Given the description of an element on the screen output the (x, y) to click on. 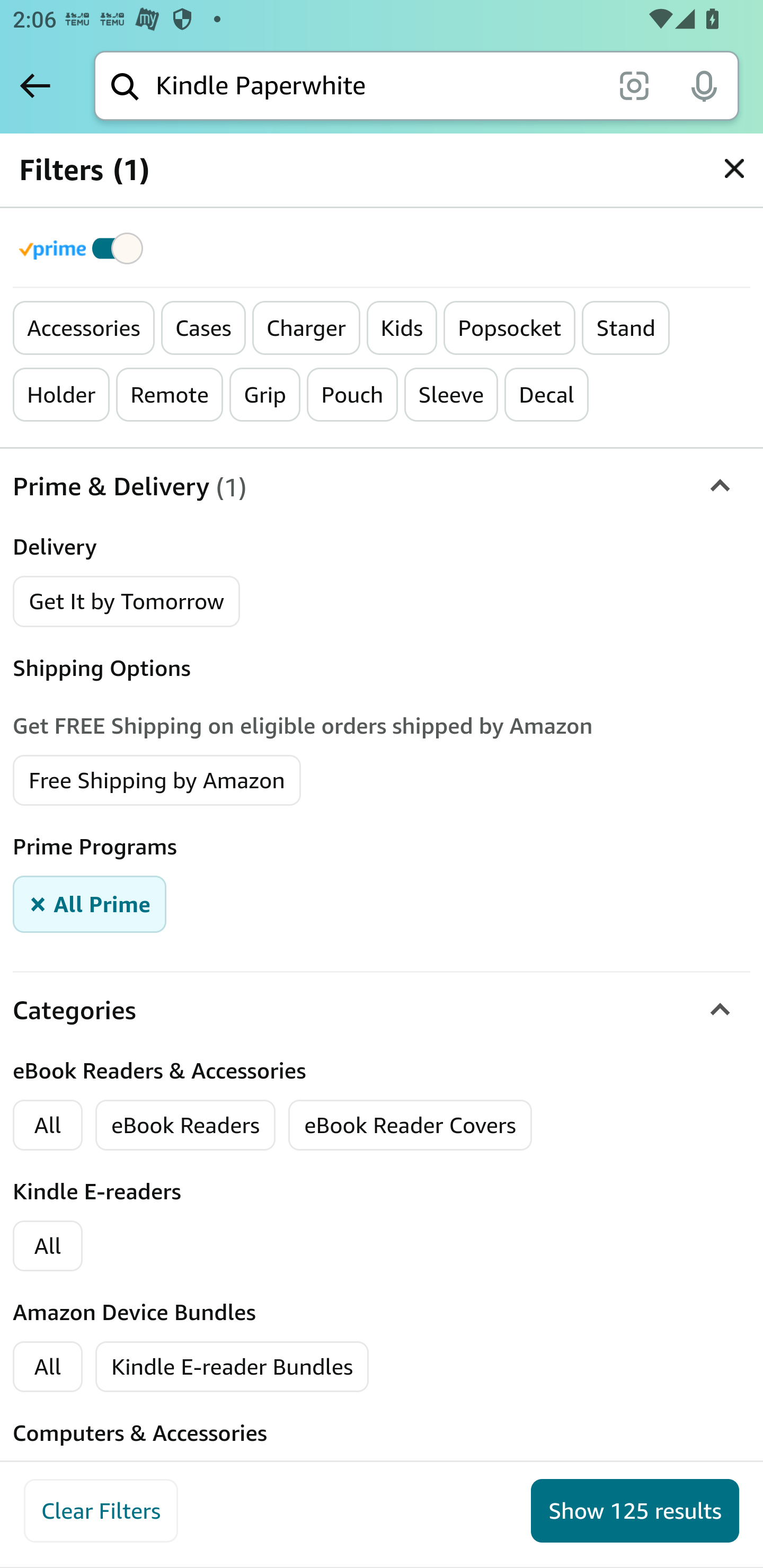
Back (35, 85)
scan it (633, 85)
Toggle to filter by Prime products Prime Eligible (83, 247)
Accessories (83, 328)
Cases (203, 328)
Charger (305, 328)
Kids (401, 328)
Popsocket (509, 328)
Stand (625, 328)
Holder (61, 394)
Remote (169, 394)
Grip (265, 394)
Pouch (352, 394)
Sleeve (451, 394)
Decal (546, 394)
Prime & Delivery (1) (381, 486)
Get It by Tomorrow (126, 601)
Free Shipping by Amazon (157, 778)
× All Prime × All Prime (89, 902)
Categories (381, 1009)
All (47, 1123)
eBook Readers (185, 1123)
eBook Reader Covers (409, 1123)
All (47, 1245)
All (47, 1366)
Kindle E-reader Bundles (232, 1366)
Clear Filters (100, 1510)
Show 125 results (635, 1510)
